Given the description of an element on the screen output the (x, y) to click on. 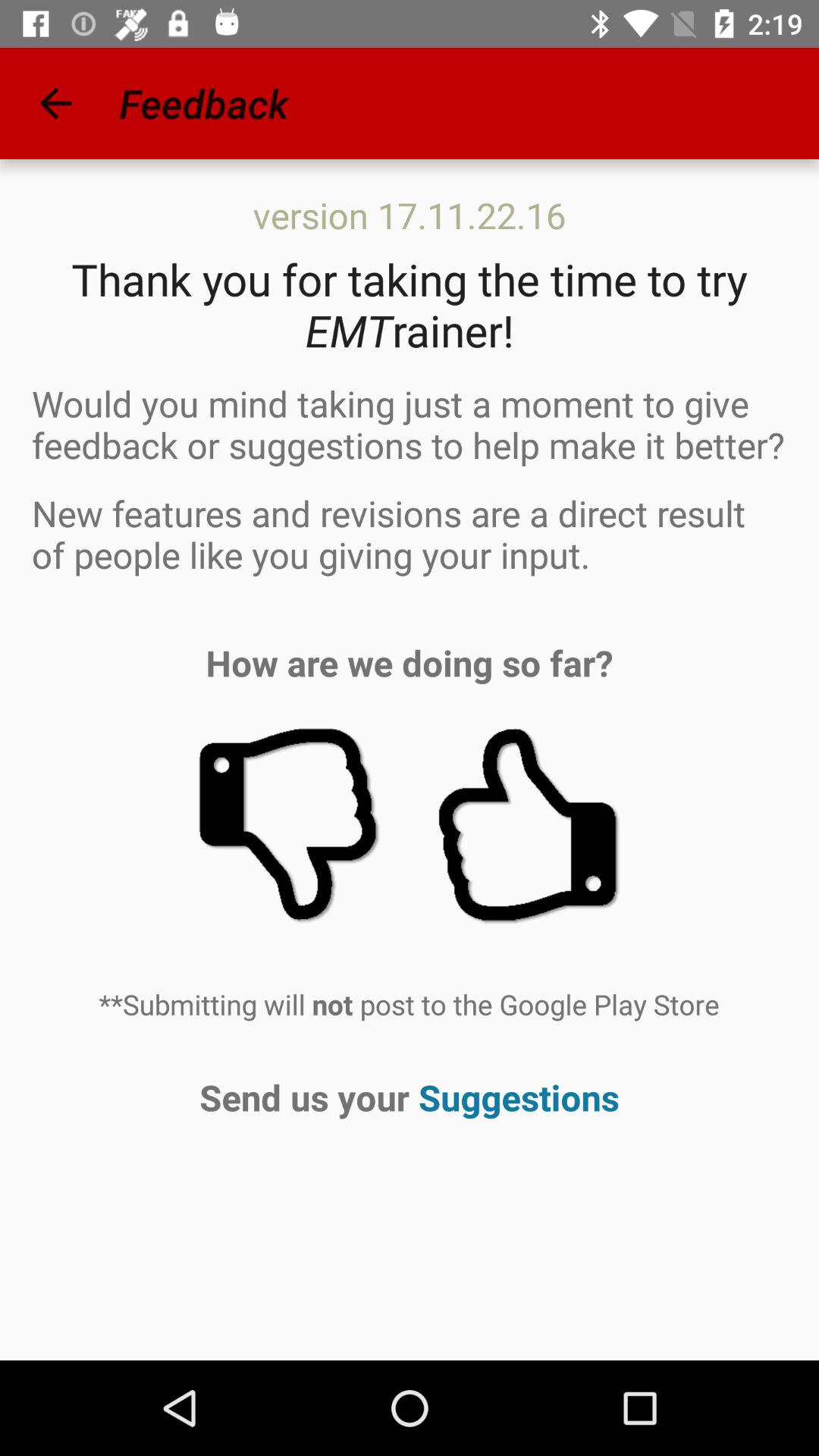
choose app to the left of feedback icon (55, 103)
